Given the description of an element on the screen output the (x, y) to click on. 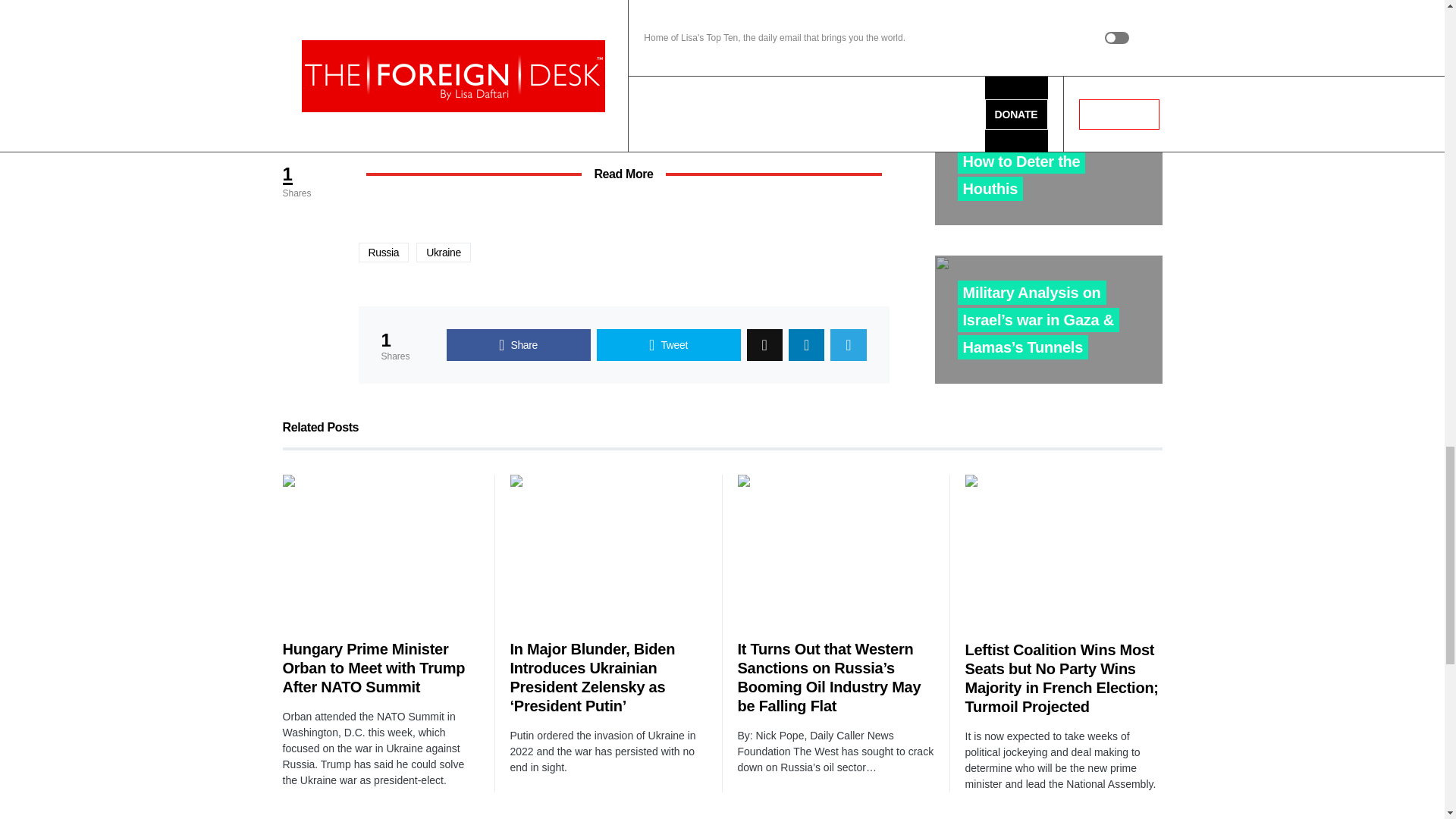
Read More (623, 173)
